Given the description of an element on the screen output the (x, y) to click on. 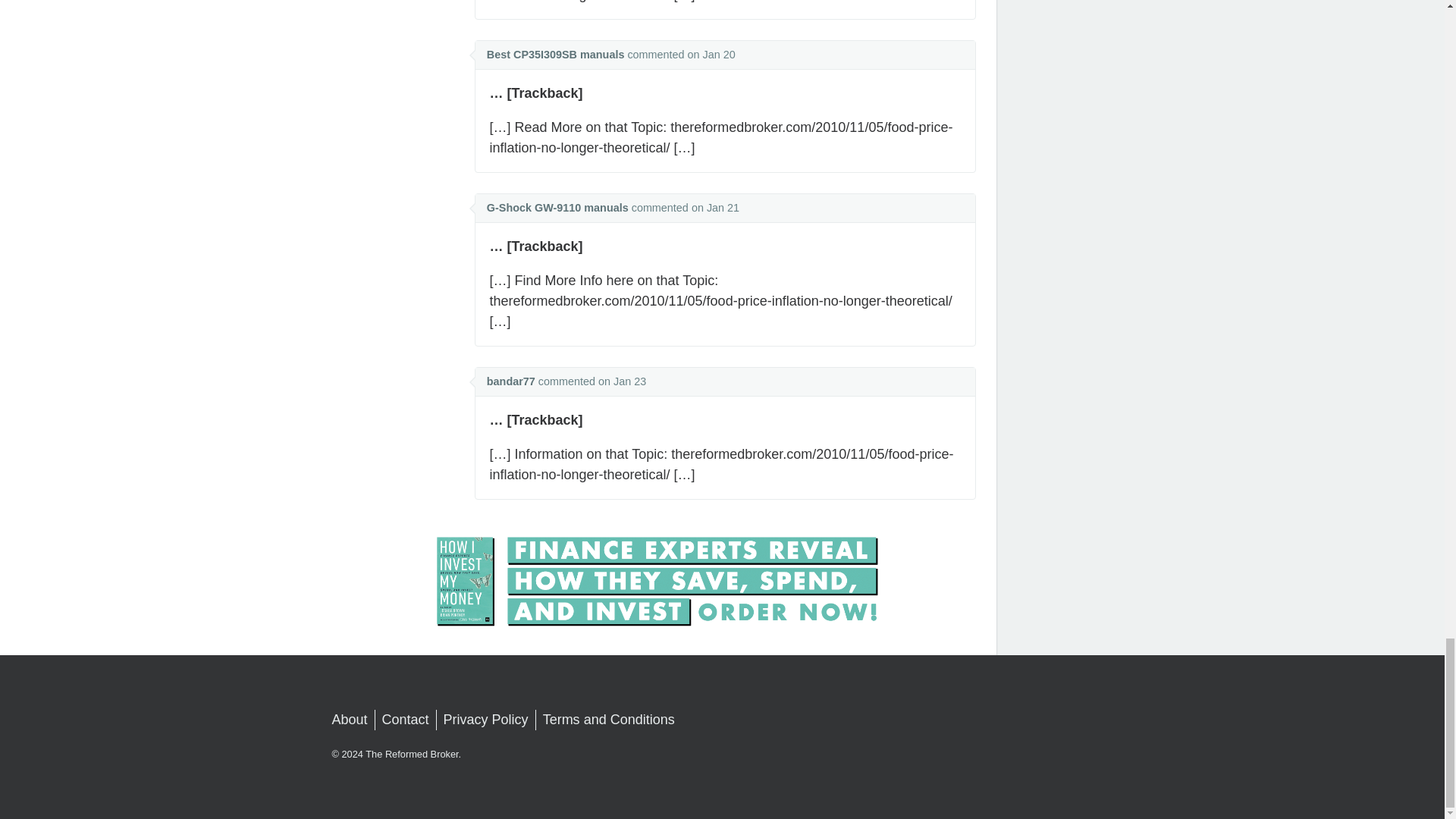
bandar77 (510, 381)
Best CP35I309SB manuals (555, 54)
G-Shock GW-9110 manuals (557, 207)
